Given the description of an element on the screen output the (x, y) to click on. 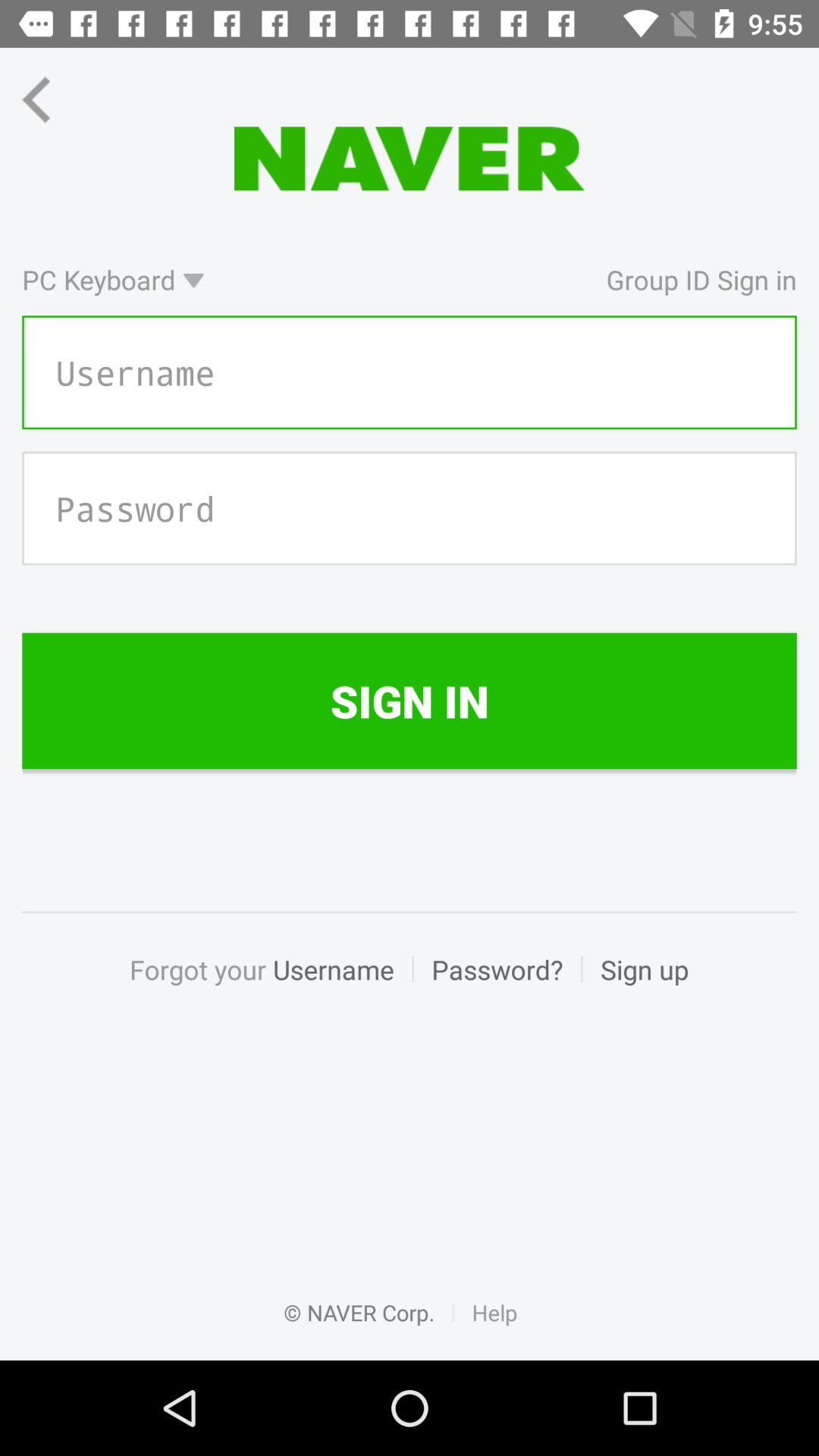
select password (409, 508)
